Given the description of an element on the screen output the (x, y) to click on. 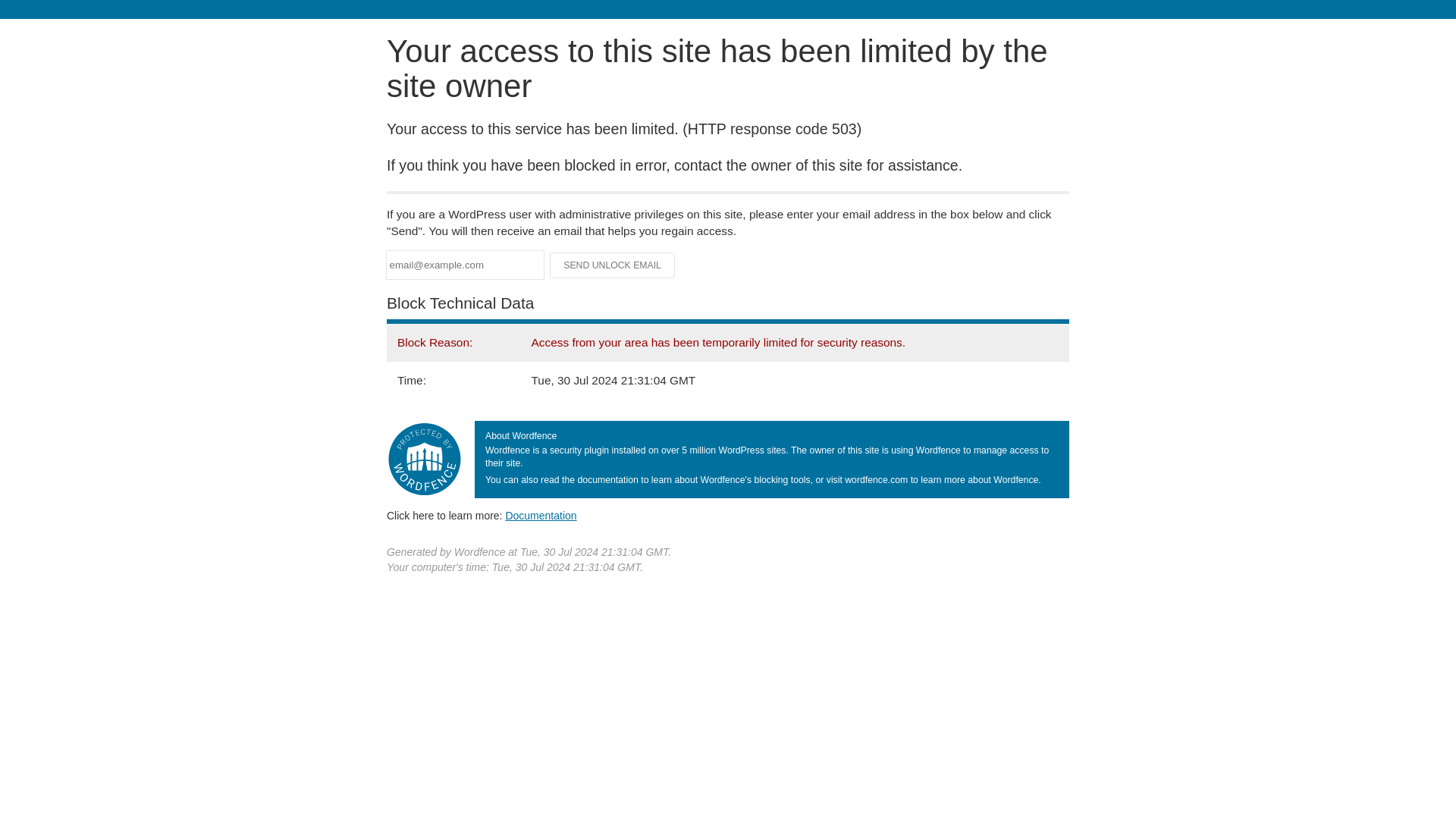
Send Unlock Email (612, 265)
Documentation (540, 515)
Send Unlock Email (612, 265)
